Given the description of an element on the screen output the (x, y) to click on. 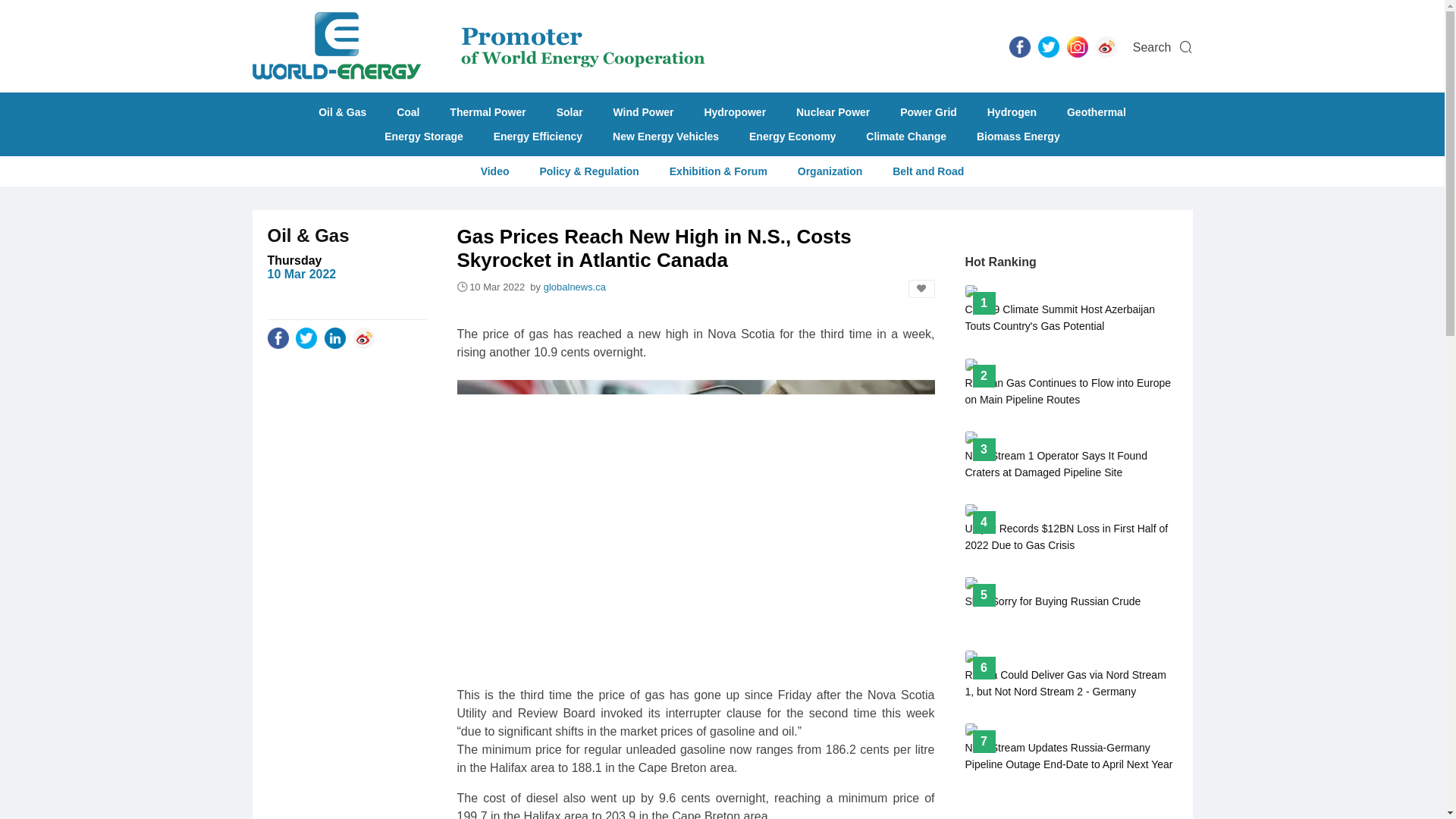
Share on LinkedIn (335, 337)
Energy Efficiency (538, 136)
Biomass Energy (1018, 136)
Video (494, 171)
Solar (569, 111)
Tweet (306, 337)
Geothermal (1096, 111)
Add to my favorites (921, 289)
Coal (1069, 601)
New Energy Vehicles (407, 111)
Weibo (665, 136)
Energy Storage (1106, 46)
